Given the description of an element on the screen output the (x, y) to click on. 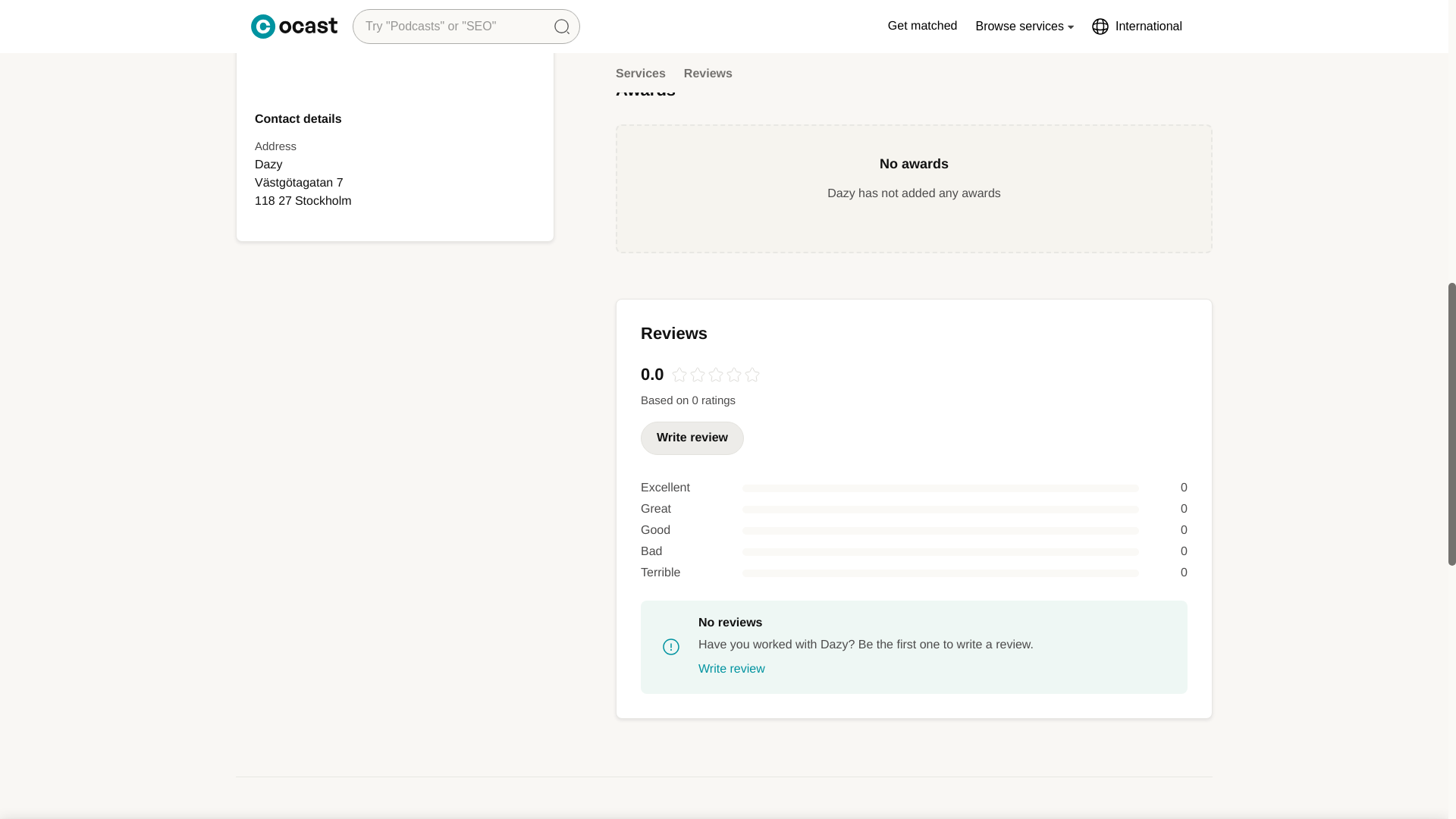
Create a request (919, 37)
Write review (731, 669)
Write review (692, 438)
